Given the description of an element on the screen output the (x, y) to click on. 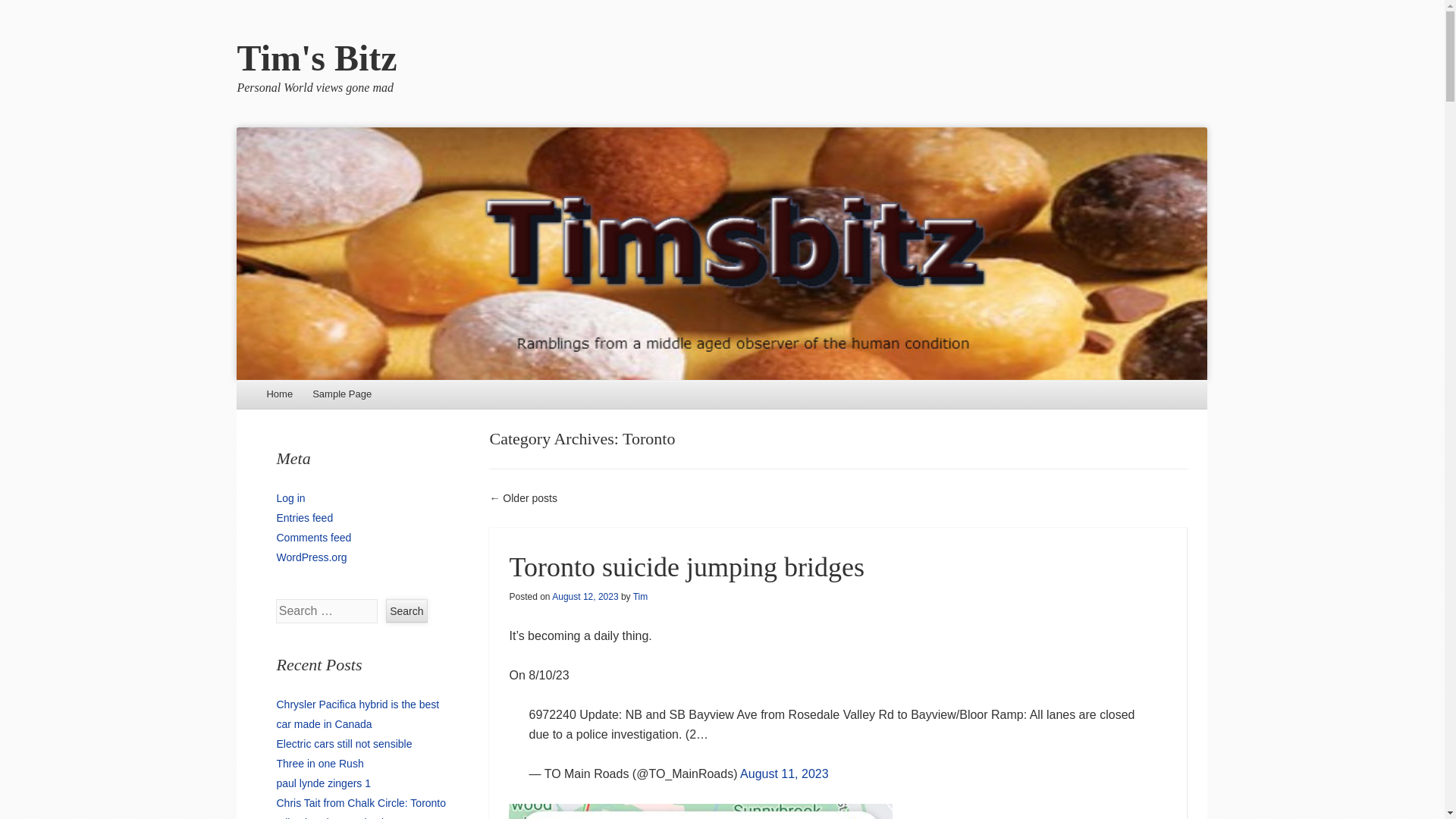
Skip to content (278, 394)
August 12, 2023 (584, 596)
Tim's Bitz (315, 57)
Skip to content (278, 394)
Toronto suicide jumping bridges (685, 567)
Home (279, 394)
Tim's Bitz (315, 57)
2:37 am (584, 596)
View all posts by Tim (640, 596)
